Given the description of an element on the screen output the (x, y) to click on. 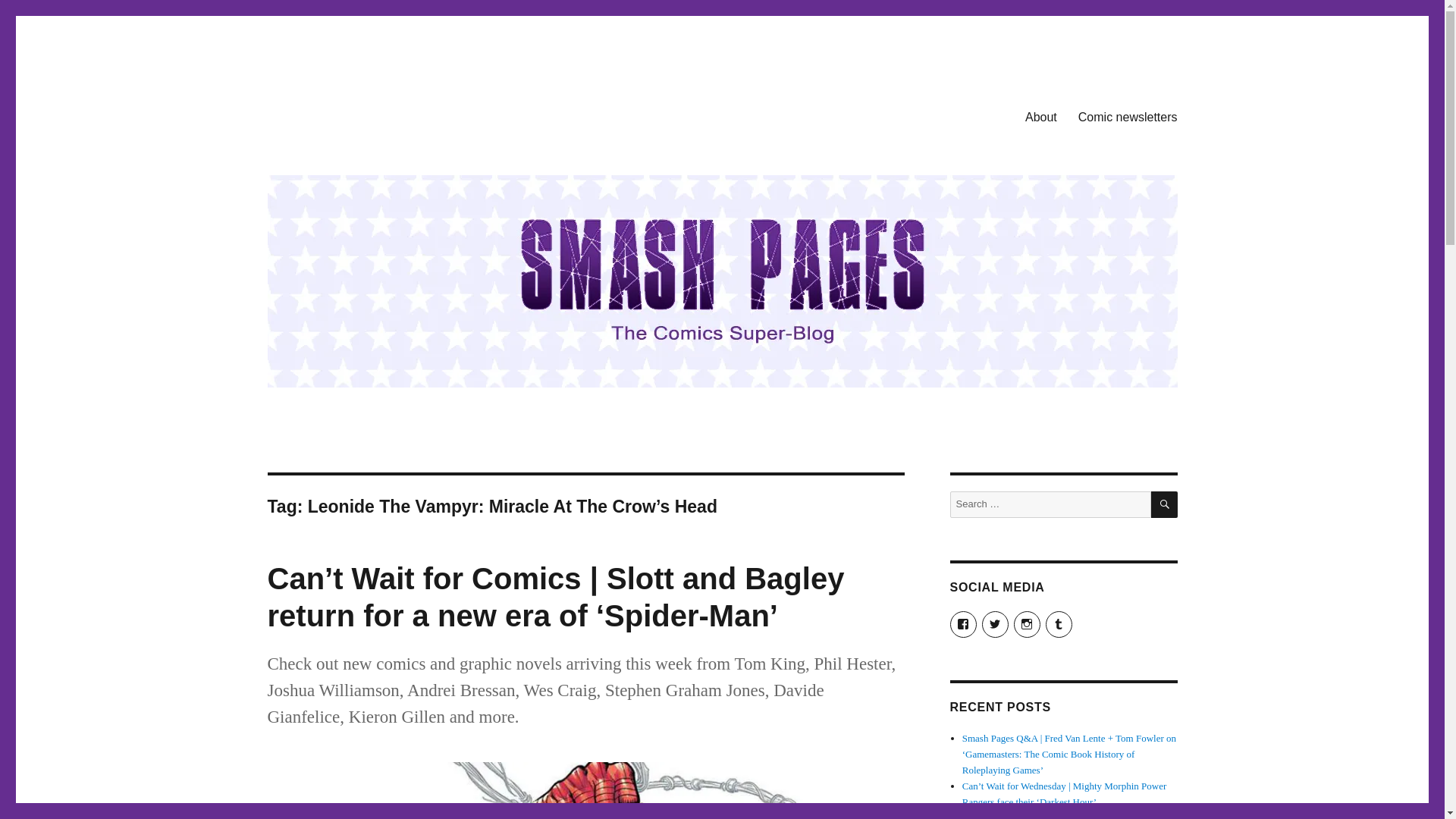
SMASH PAGES (344, 114)
About (1040, 116)
Comic newsletters (1127, 116)
